Given the description of an element on the screen output the (x, y) to click on. 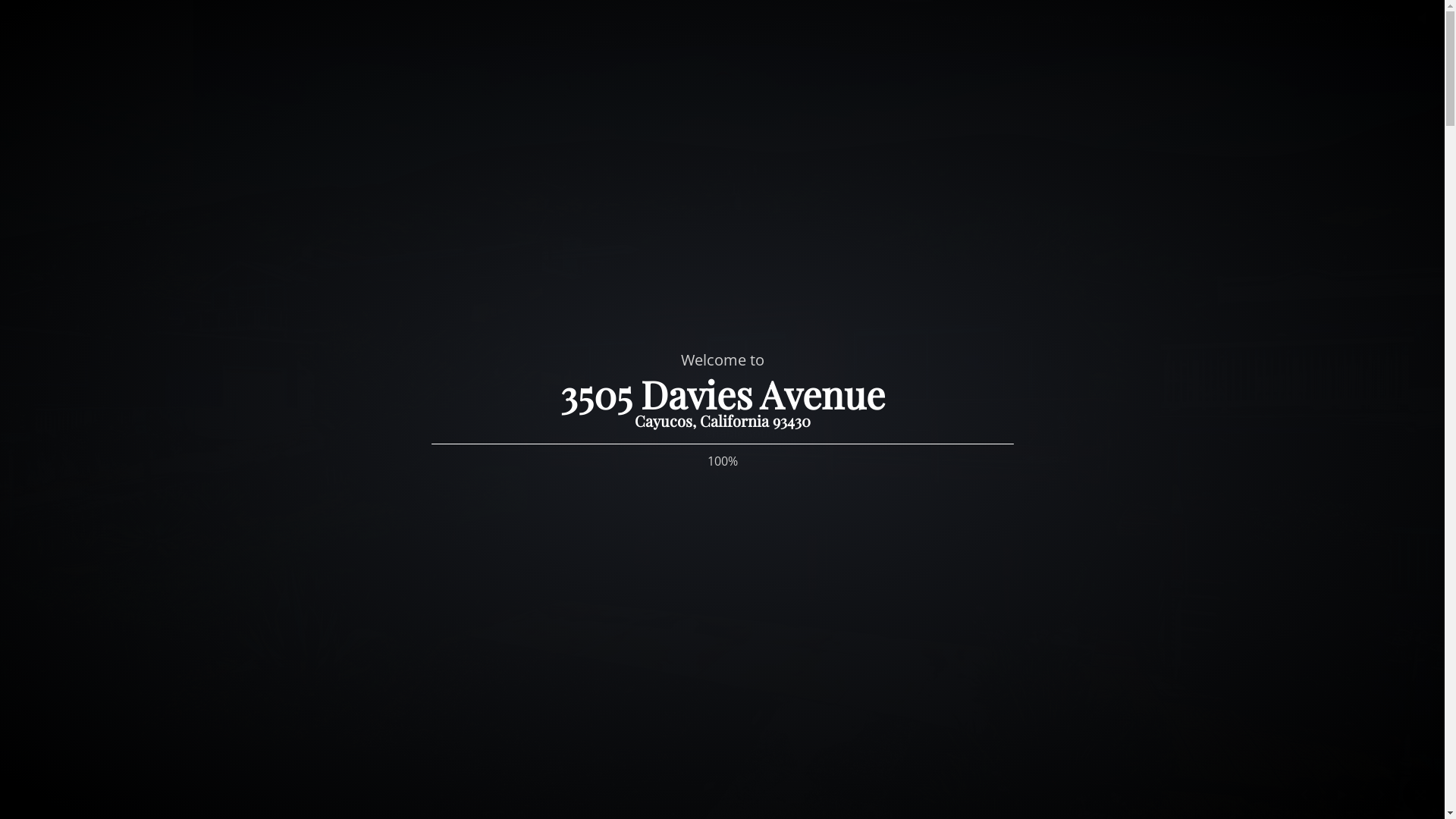
Play Music Element type: hover (1421, 20)
